Given the description of an element on the screen output the (x, y) to click on. 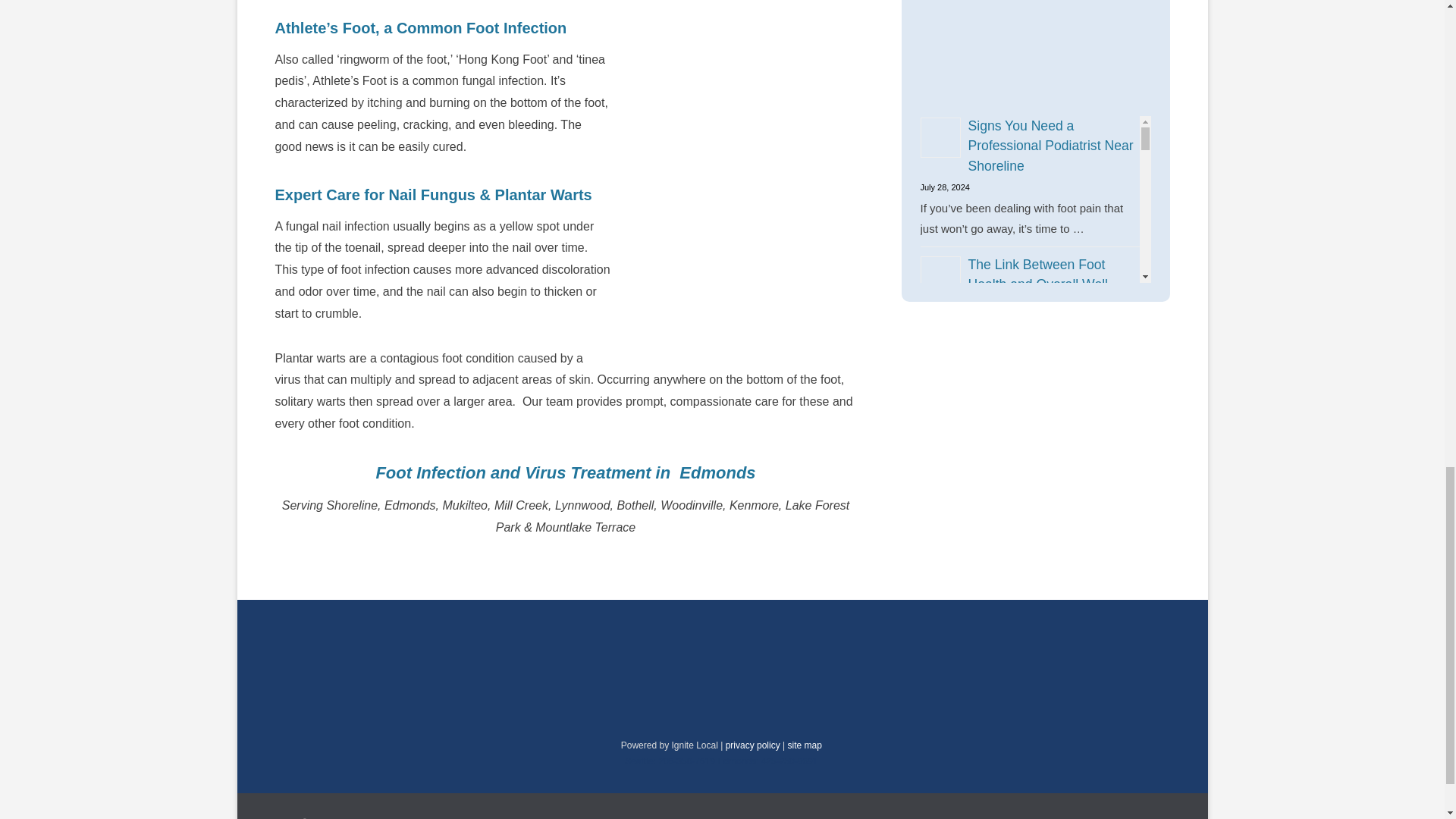
Signs You Need a Professional Podiatrist Near Shoreline (1050, 145)
Basic Information about Bunions in Woodinville (1038, 731)
